Given the description of an element on the screen output the (x, y) to click on. 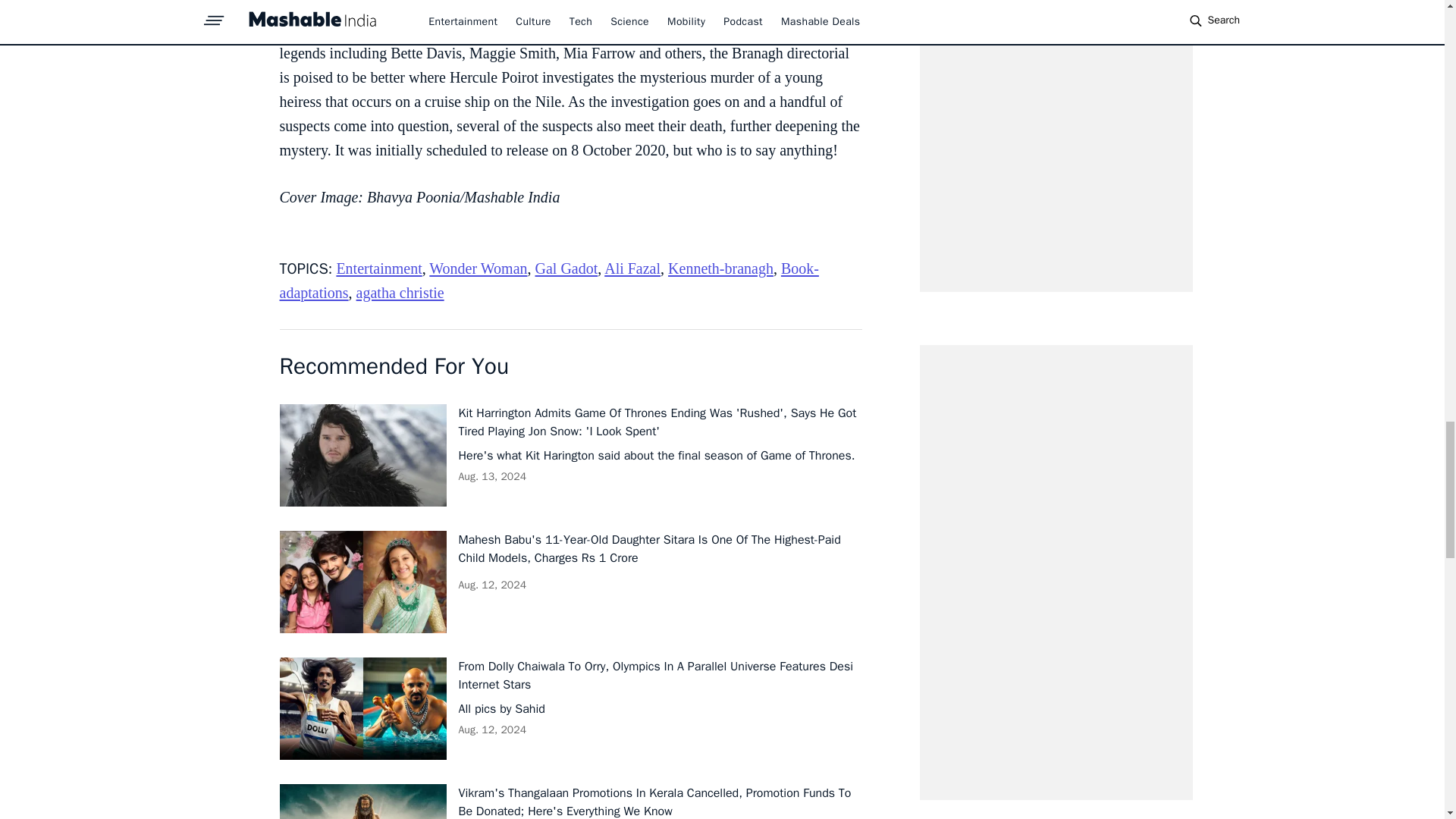
Gal Gadot (566, 268)
Entertainment (379, 268)
Kenneth-branagh (720, 268)
Ali Fazal (632, 268)
Book-adaptations (548, 280)
Wonder Woman (478, 268)
